Given the description of an element on the screen output the (x, y) to click on. 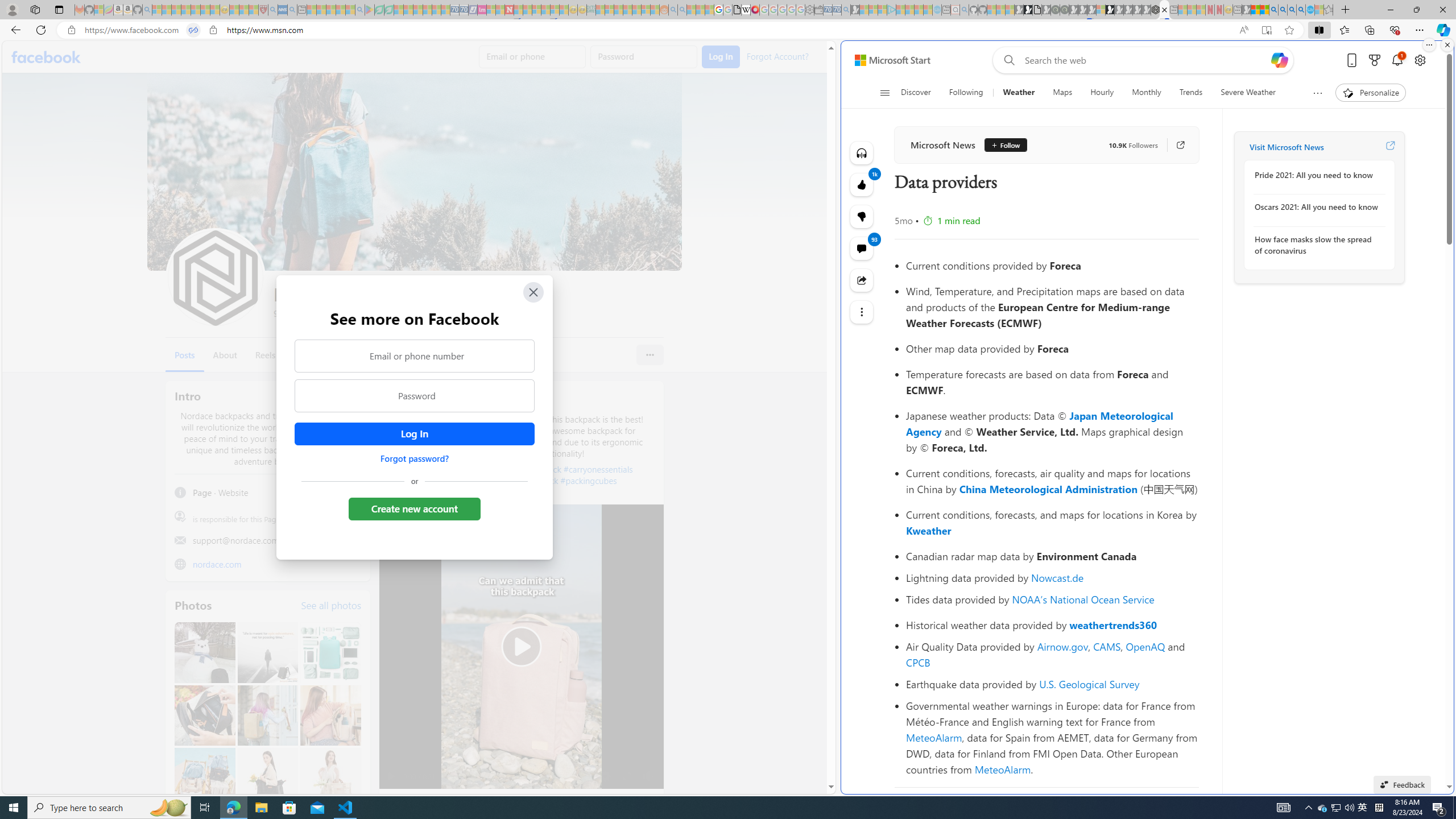
Pets - MSN - Sleeping (340, 9)
1k (861, 216)
Settings - Sleeping (809, 9)
Tabs in split screen (193, 29)
Refresh (40, 29)
Earthquake data provided by U.S. Geological Survey (1051, 684)
Recipes - MSN - Sleeping (234, 9)
14 Common Myths Debunked By Scientific Facts - Sleeping (527, 9)
